Given the description of an element on the screen output the (x, y) to click on. 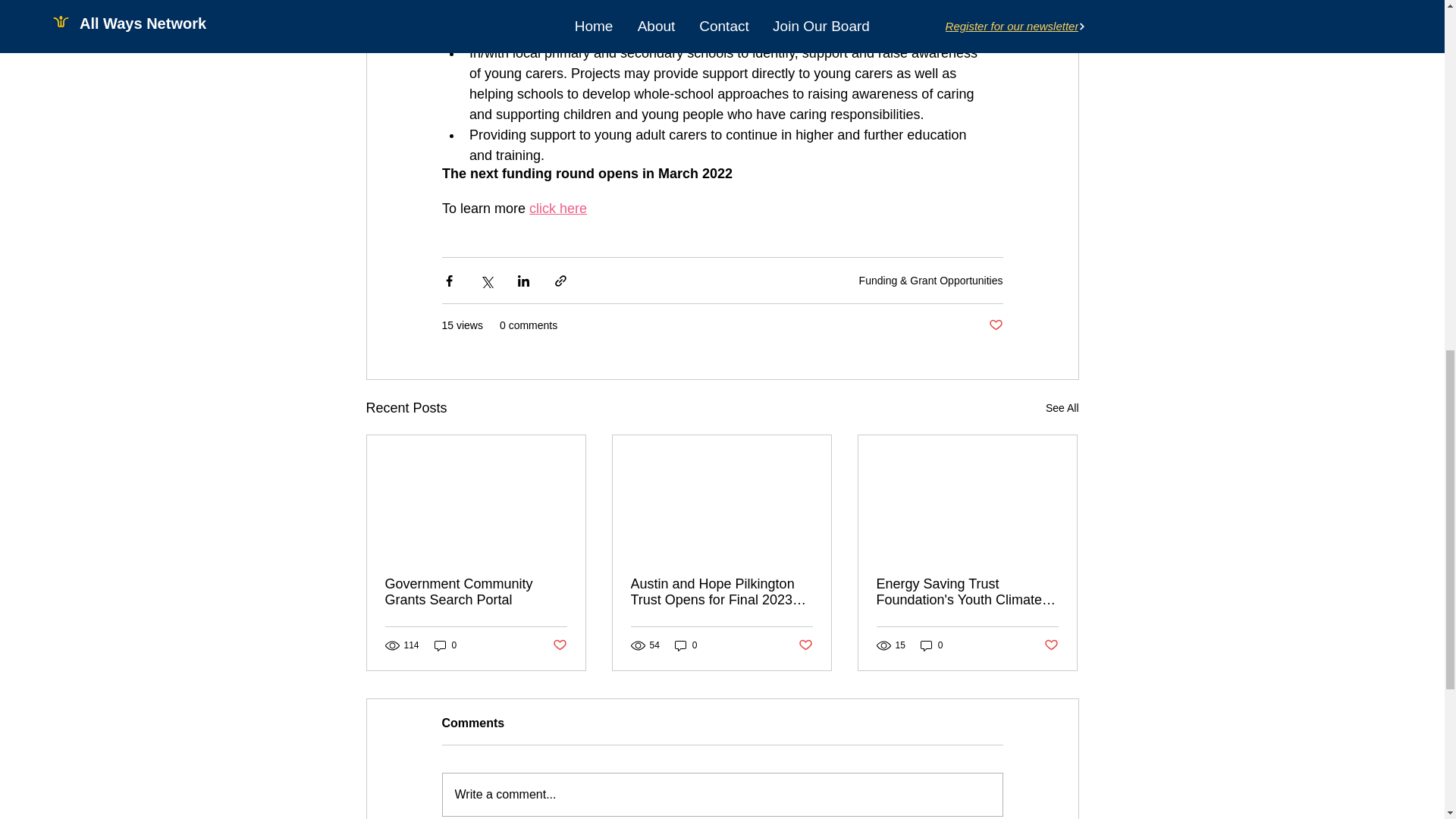
Write a comment... (722, 794)
Post not marked as liked (995, 325)
See All (1061, 408)
Post not marked as liked (558, 645)
Post not marked as liked (804, 645)
Government Community Grants Search Portal (476, 592)
Post not marked as liked (1050, 645)
0 (445, 645)
click here (557, 208)
0 (685, 645)
0 (931, 645)
